Given the description of an element on the screen output the (x, y) to click on. 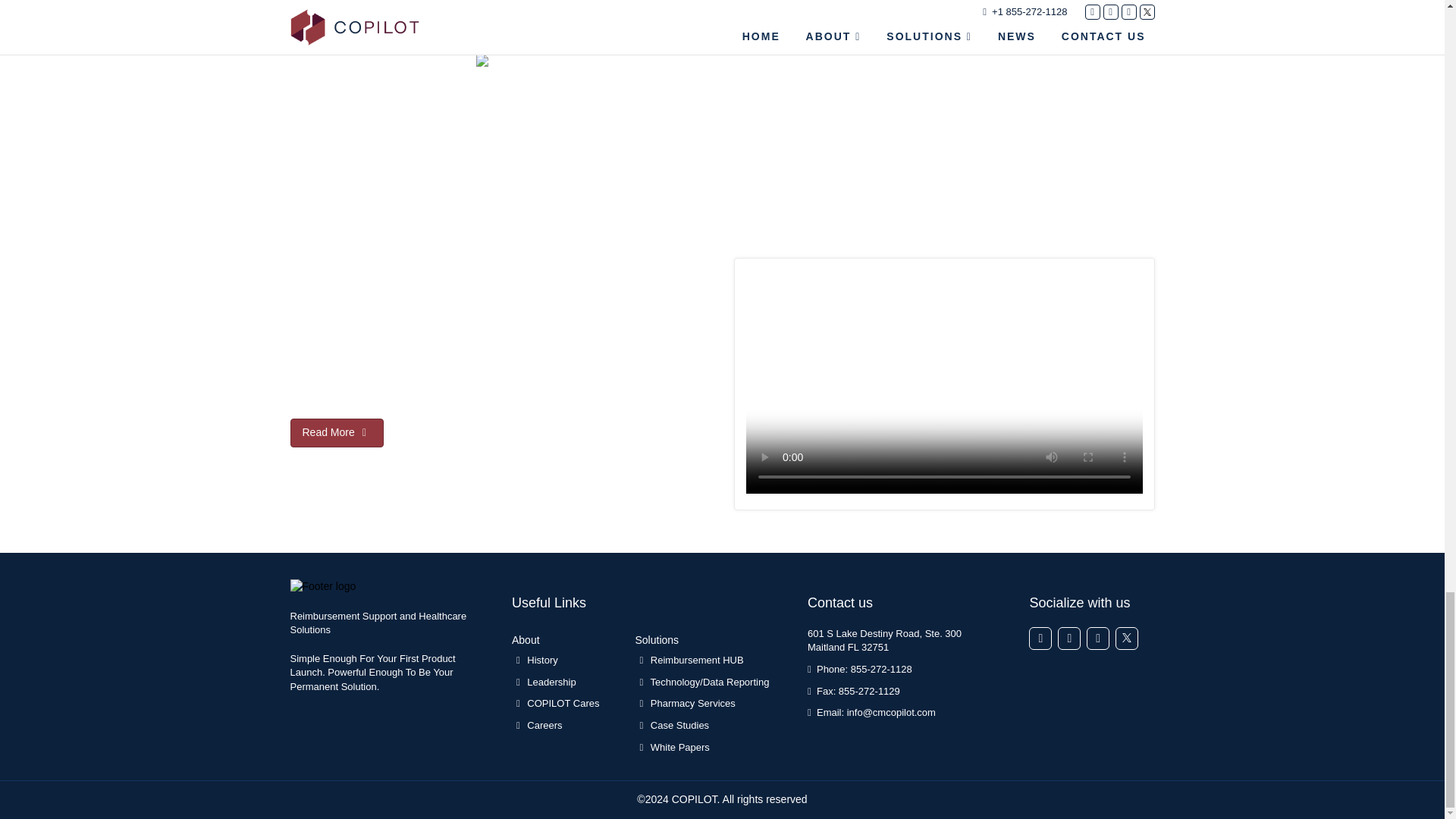
History (561, 664)
COPILOT Cares (561, 707)
Read More (335, 432)
Careers (561, 730)
Reimbursement HUB (709, 664)
Leadership (561, 686)
